Given the description of an element on the screen output the (x, y) to click on. 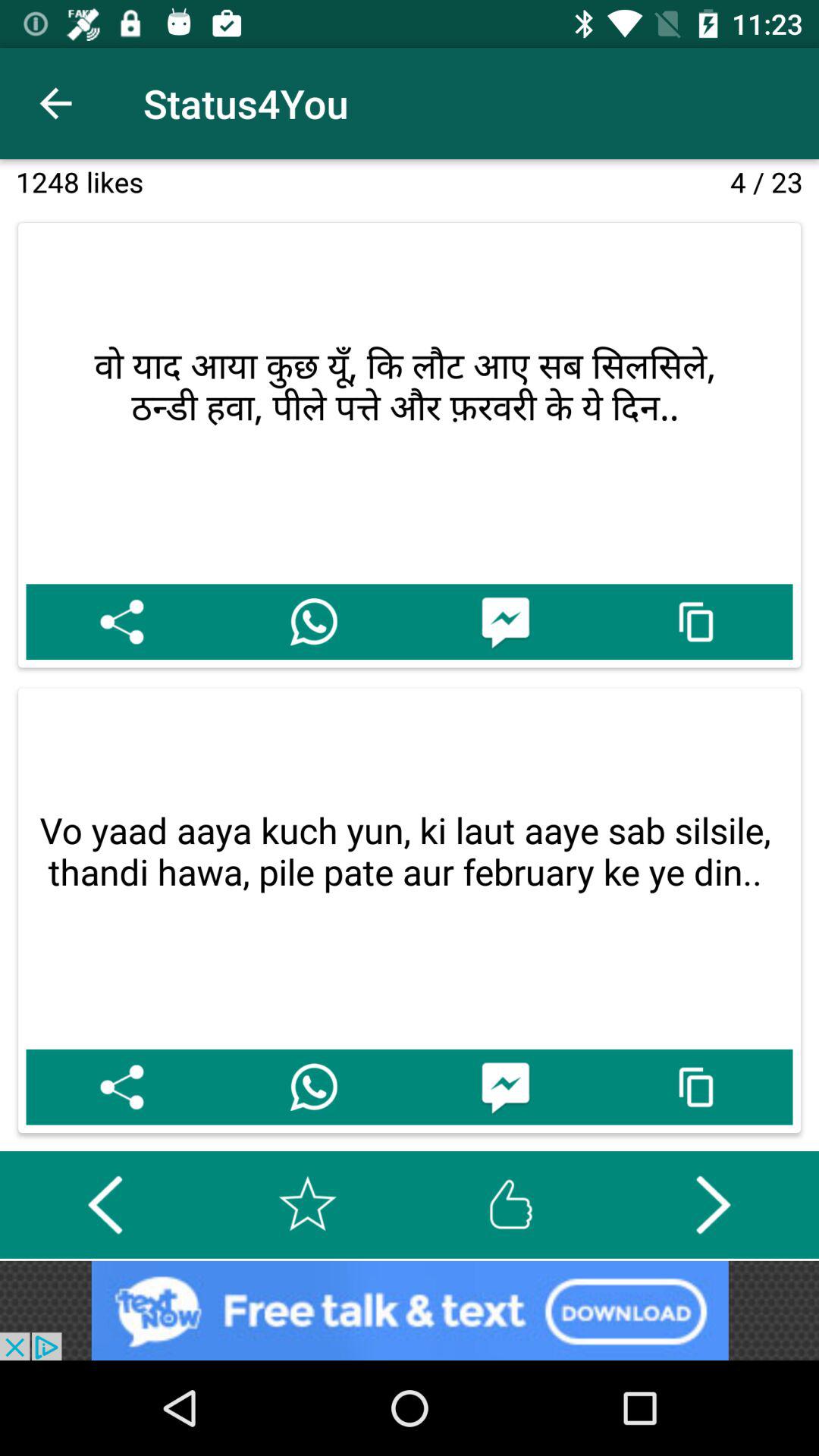
a favorite button (307, 1204)
